Given the description of an element on the screen output the (x, y) to click on. 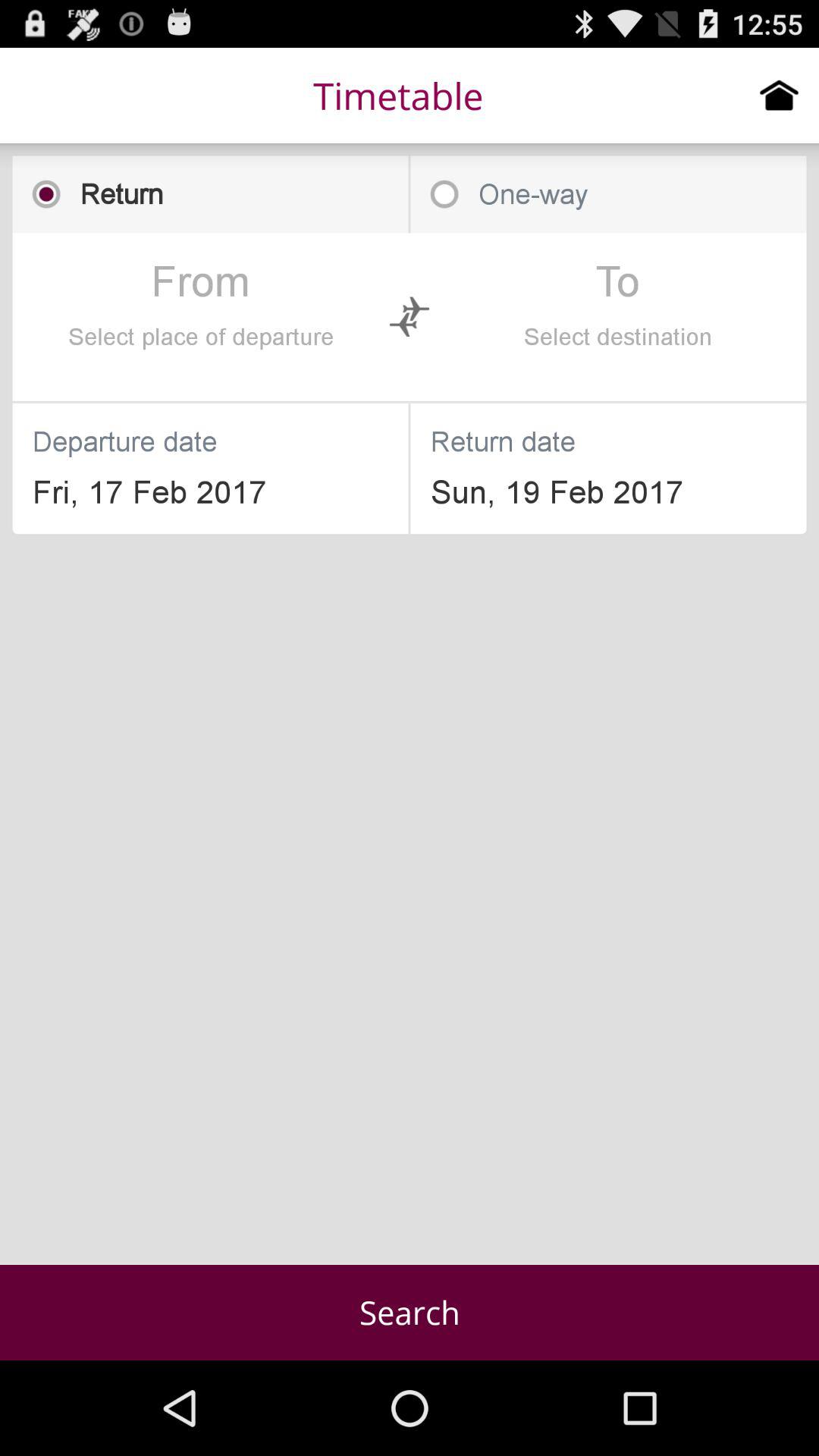
click on the flights pictures between from and to (409, 316)
